Given the description of an element on the screen output the (x, y) to click on. 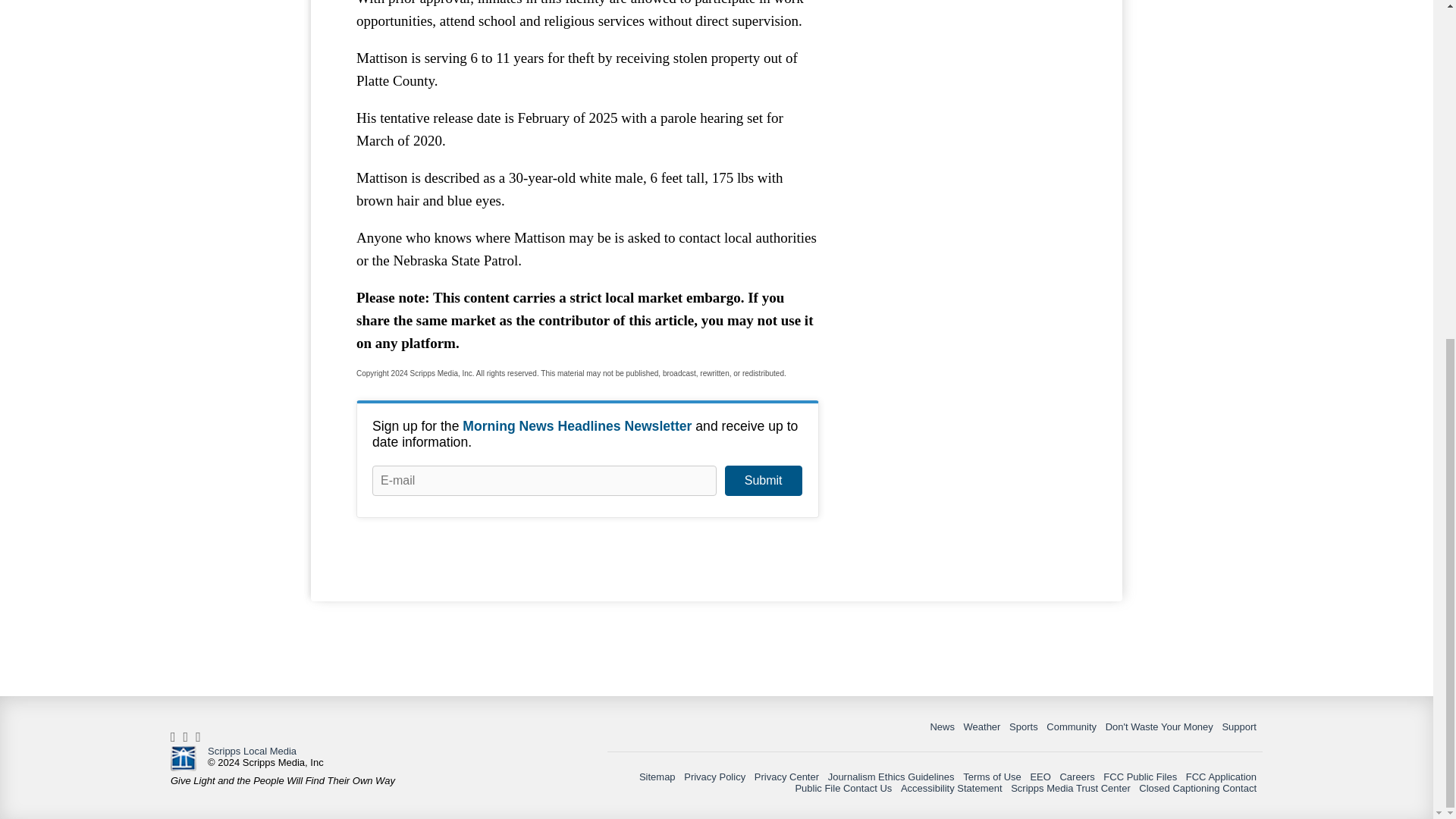
Submit (763, 481)
